Given the description of an element on the screen output the (x, y) to click on. 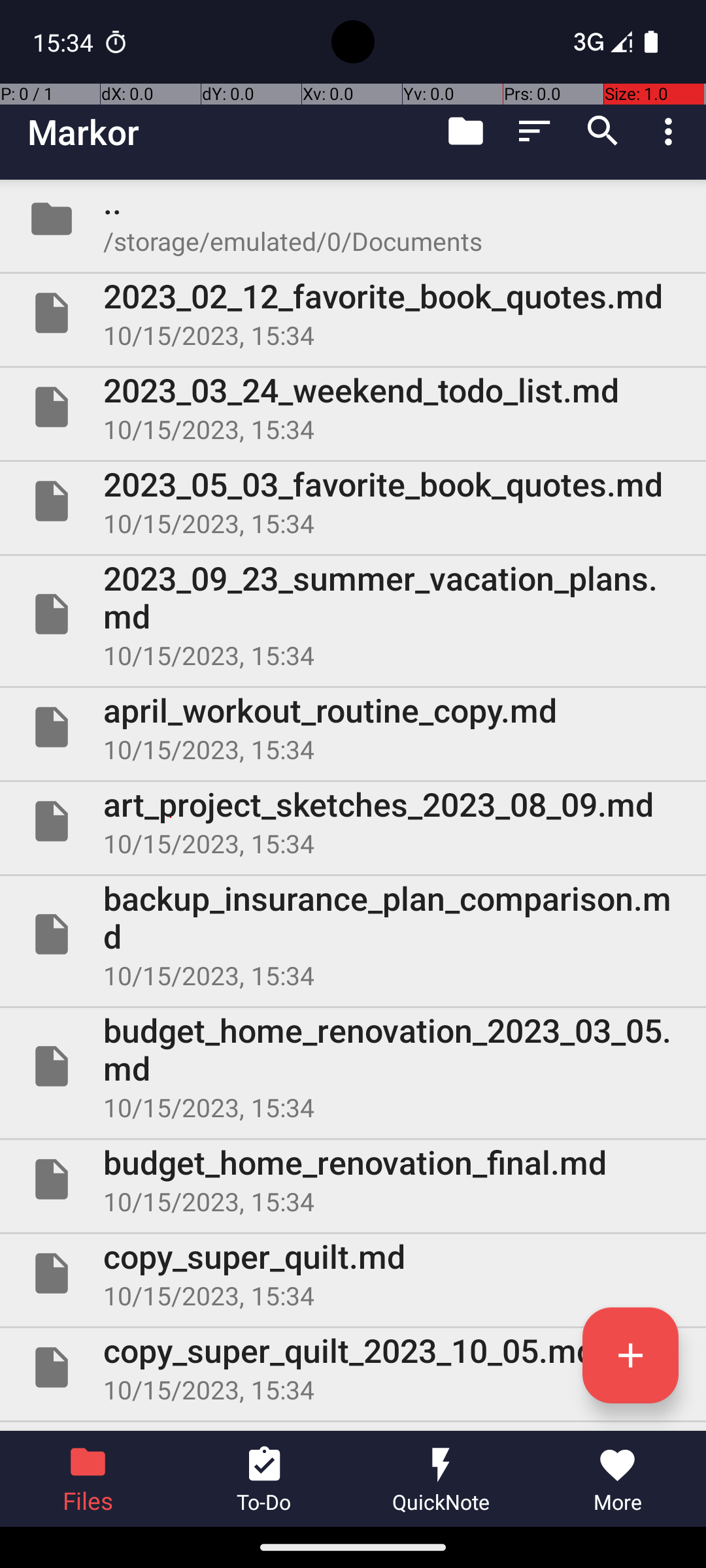
File 2023_02_12_favorite_book_quotes.md  Element type: android.widget.LinearLayout (353, 312)
File 2023_03_24_weekend_todo_list.md  Element type: android.widget.LinearLayout (353, 406)
File 2023_05_03_favorite_book_quotes.md  Element type: android.widget.LinearLayout (353, 500)
File 2023_09_23_summer_vacation_plans.md  Element type: android.widget.LinearLayout (353, 613)
File april_workout_routine_copy.md  Element type: android.widget.LinearLayout (353, 726)
File art_project_sketches_2023_08_09.md  Element type: android.widget.LinearLayout (353, 821)
File backup_insurance_plan_comparison.md  Element type: android.widget.LinearLayout (353, 934)
File budget_home_renovation_2023_03_05.md  Element type: android.widget.LinearLayout (353, 1066)
File budget_home_renovation_final.md  Element type: android.widget.LinearLayout (353, 1179)
File copy_super_quilt.md  Element type: android.widget.LinearLayout (353, 1273)
File copy_super_quilt_2023_10_05.md  Element type: android.widget.LinearLayout (353, 1367)
File final_client_meetings_schedule.md  Element type: android.widget.LinearLayout (353, 1426)
